Given the description of an element on the screen output the (x, y) to click on. 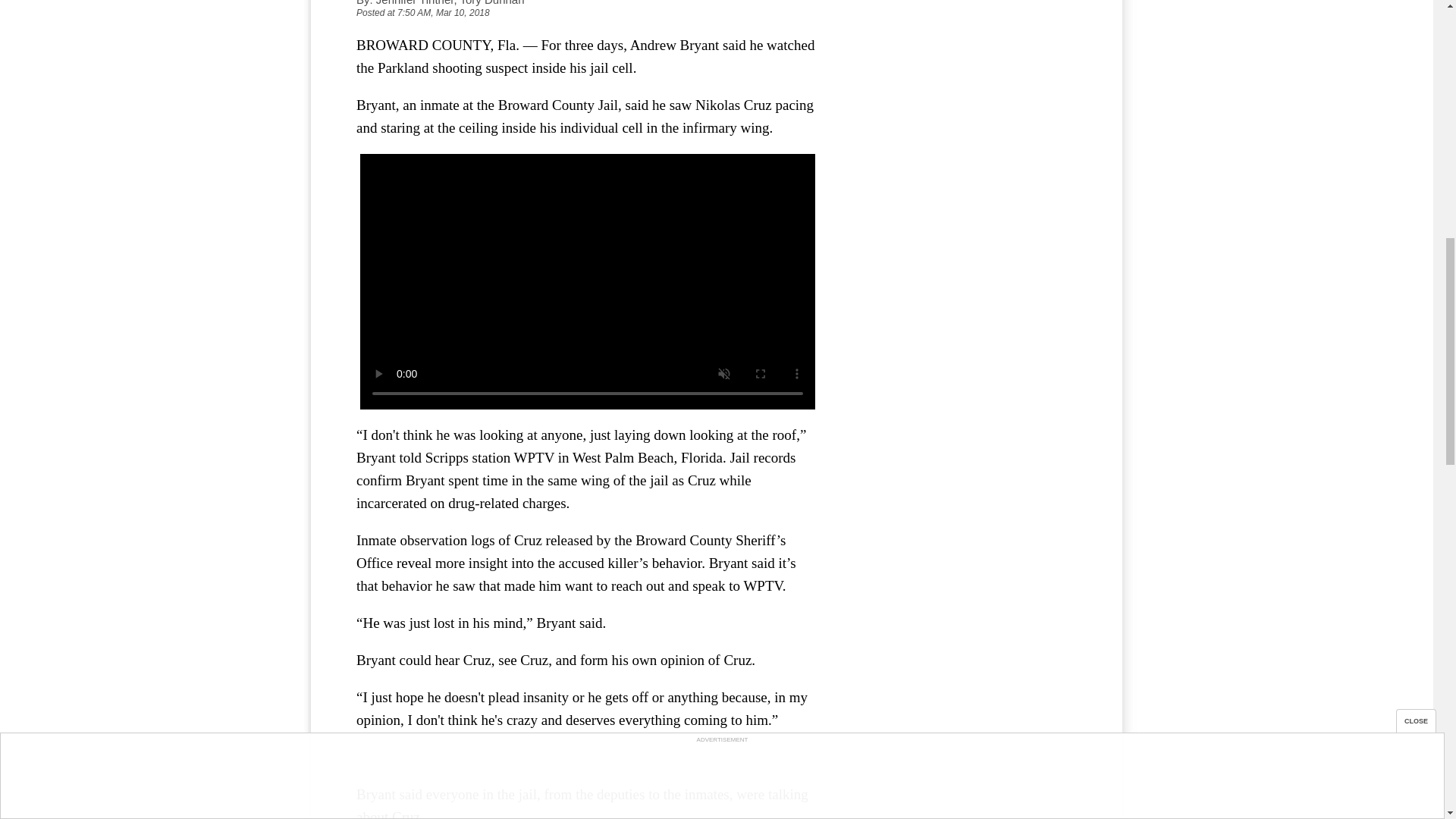
3rd party ad content (962, 123)
